Given the description of an element on the screen output the (x, y) to click on. 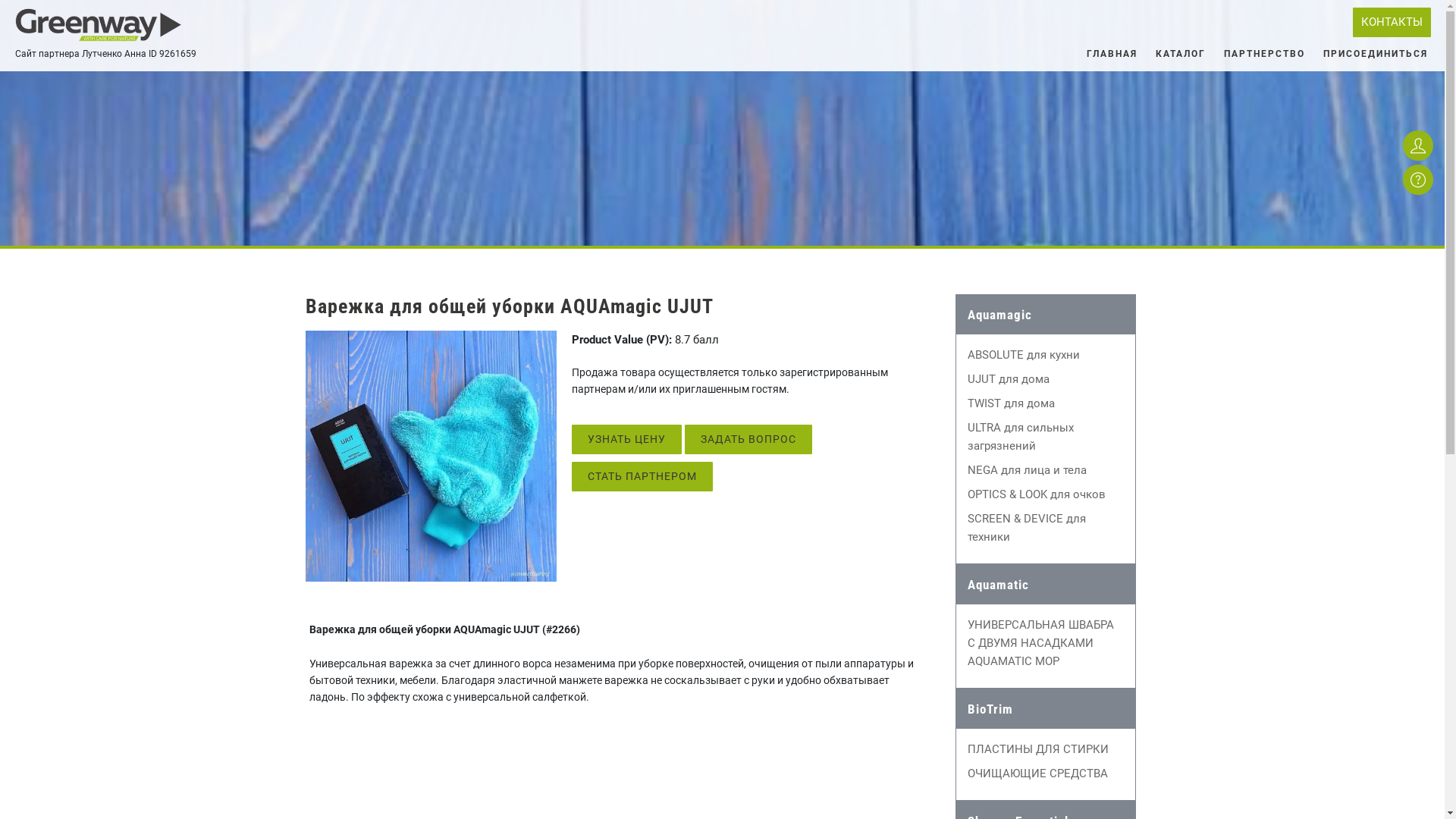
Aquamatic Element type: text (1045, 584)
Aquamagic Element type: text (1045, 314)
BioTrim Element type: text (1045, 708)
